Given the description of an element on the screen output the (x, y) to click on. 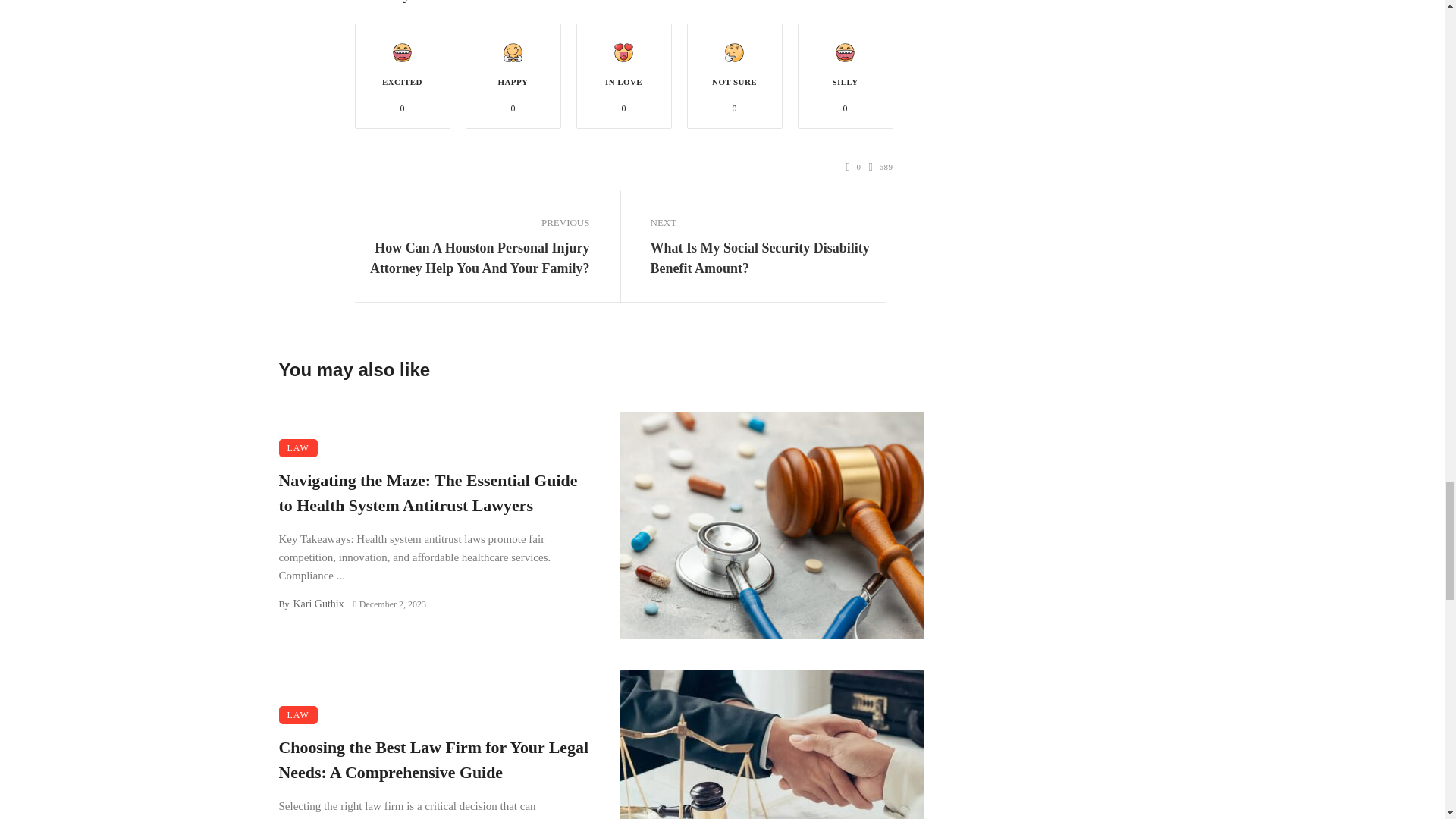
689 (881, 166)
NEXT (767, 222)
0 (853, 166)
What Is My Social Security Disability Benefit Amount? (767, 258)
PREVIOUS (472, 222)
